Given the description of an element on the screen output the (x, y) to click on. 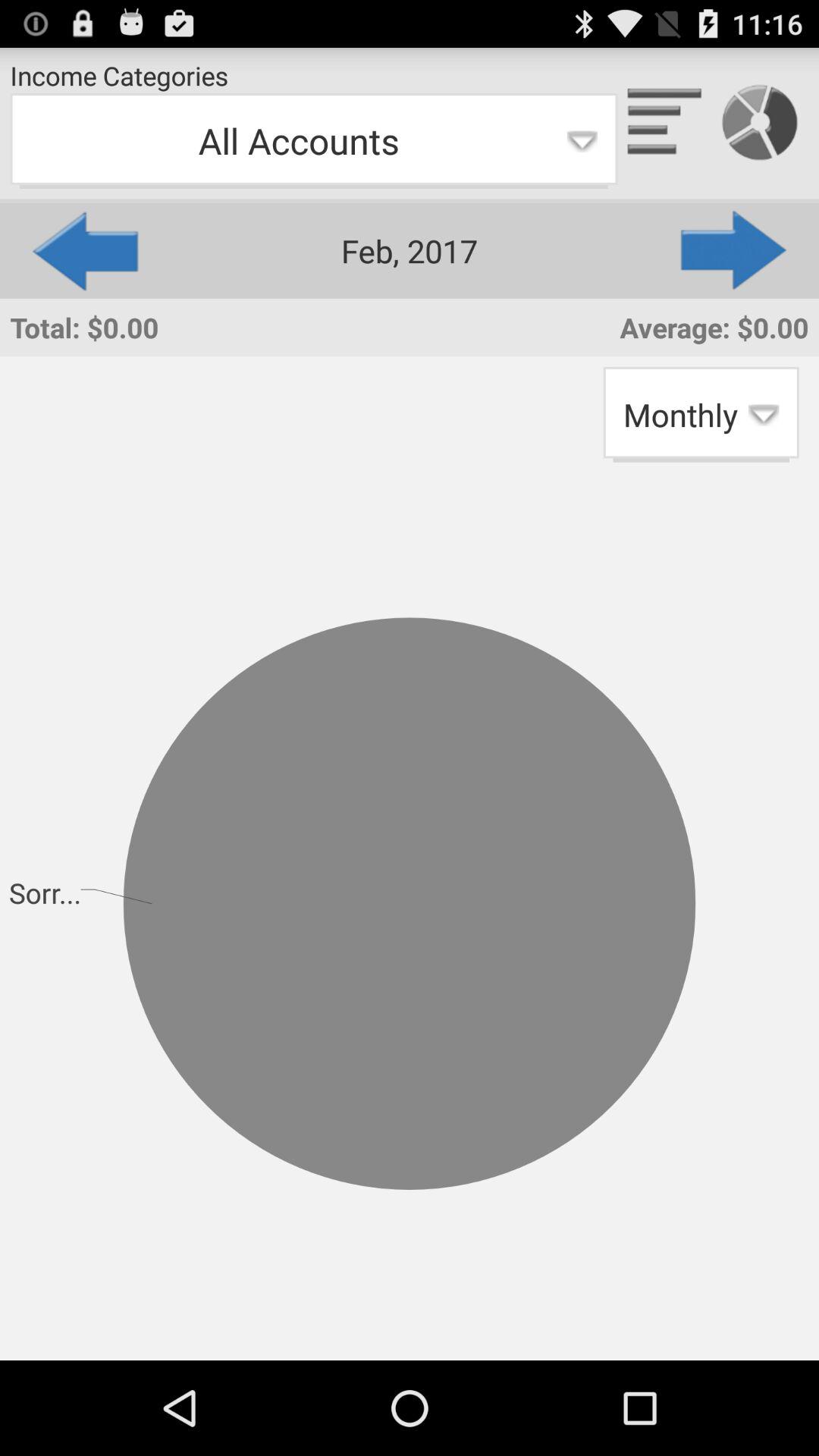
select app below income categories icon (313, 140)
